Given the description of an element on the screen output the (x, y) to click on. 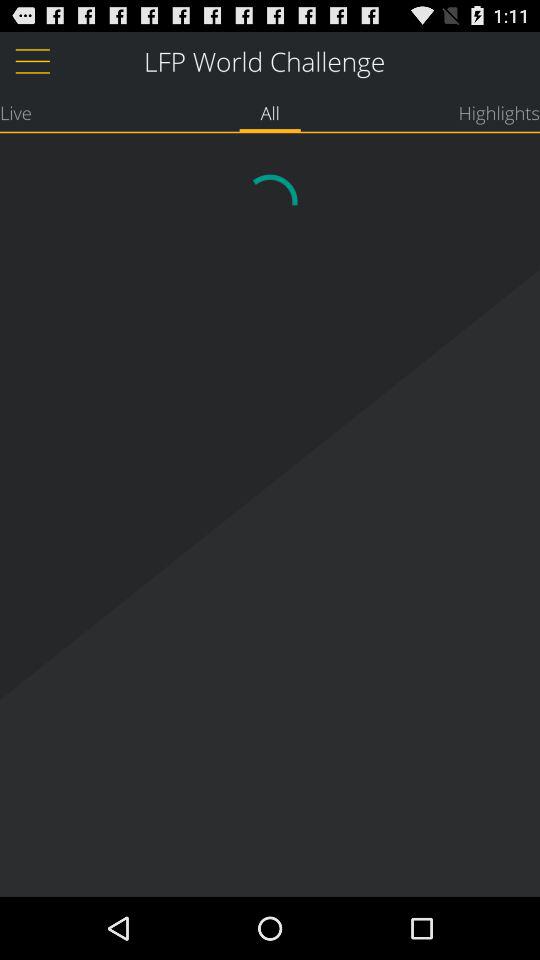
turn on the item to the right of the all app (499, 112)
